Given the description of an element on the screen output the (x, y) to click on. 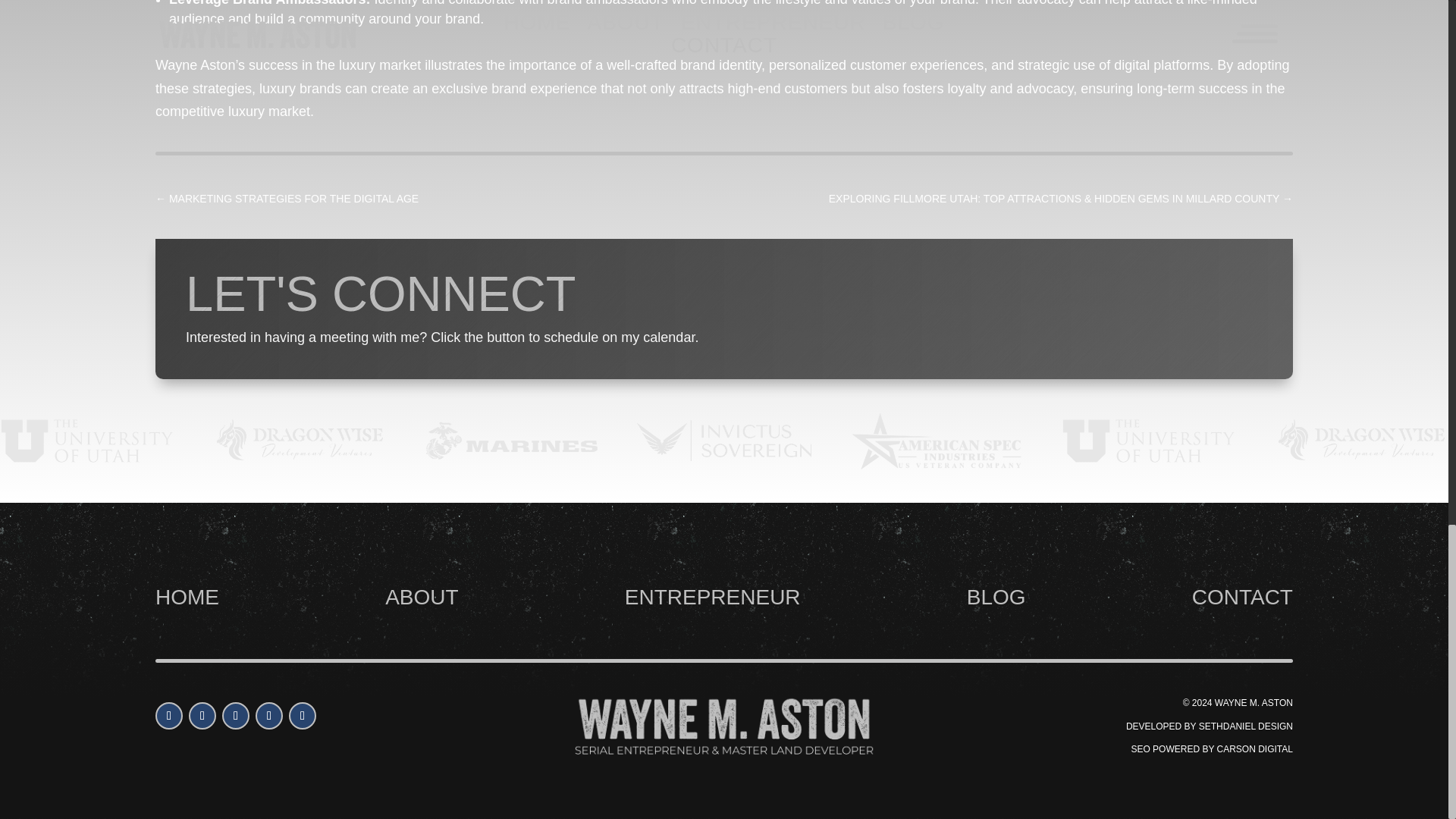
CONTACT (1242, 597)
BLOG (996, 597)
ABOUT (421, 597)
u of u wayne aston (87, 441)
dragonwise logo (299, 441)
invictus sovereign logo (723, 441)
marines logo (511, 441)
ENTREPRENEUR (712, 597)
HOME (187, 597)
